Given the description of an element on the screen output the (x, y) to click on. 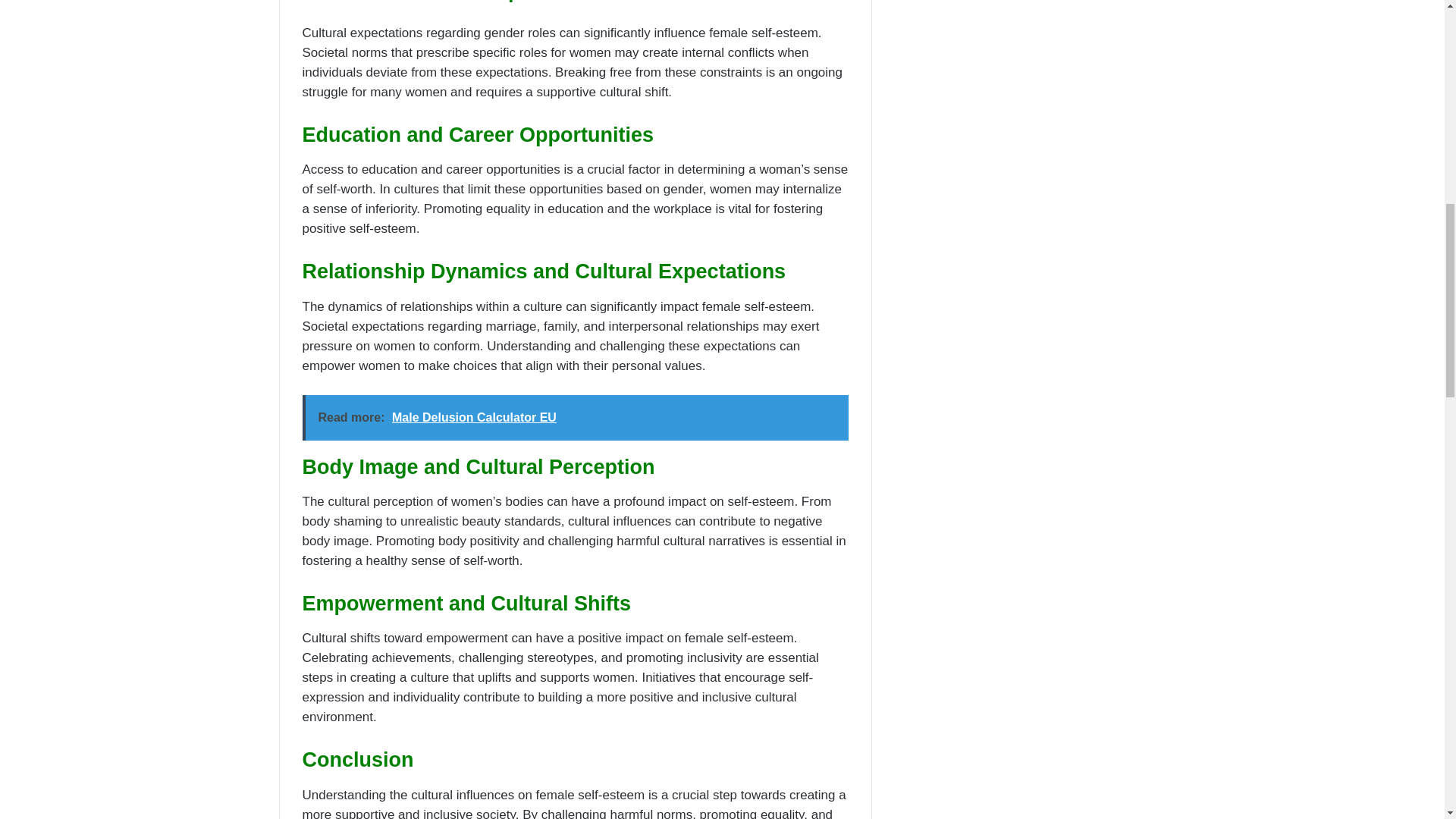
Read more:  Male Delusion Calculator EU (574, 417)
